Given the description of an element on the screen output the (x, y) to click on. 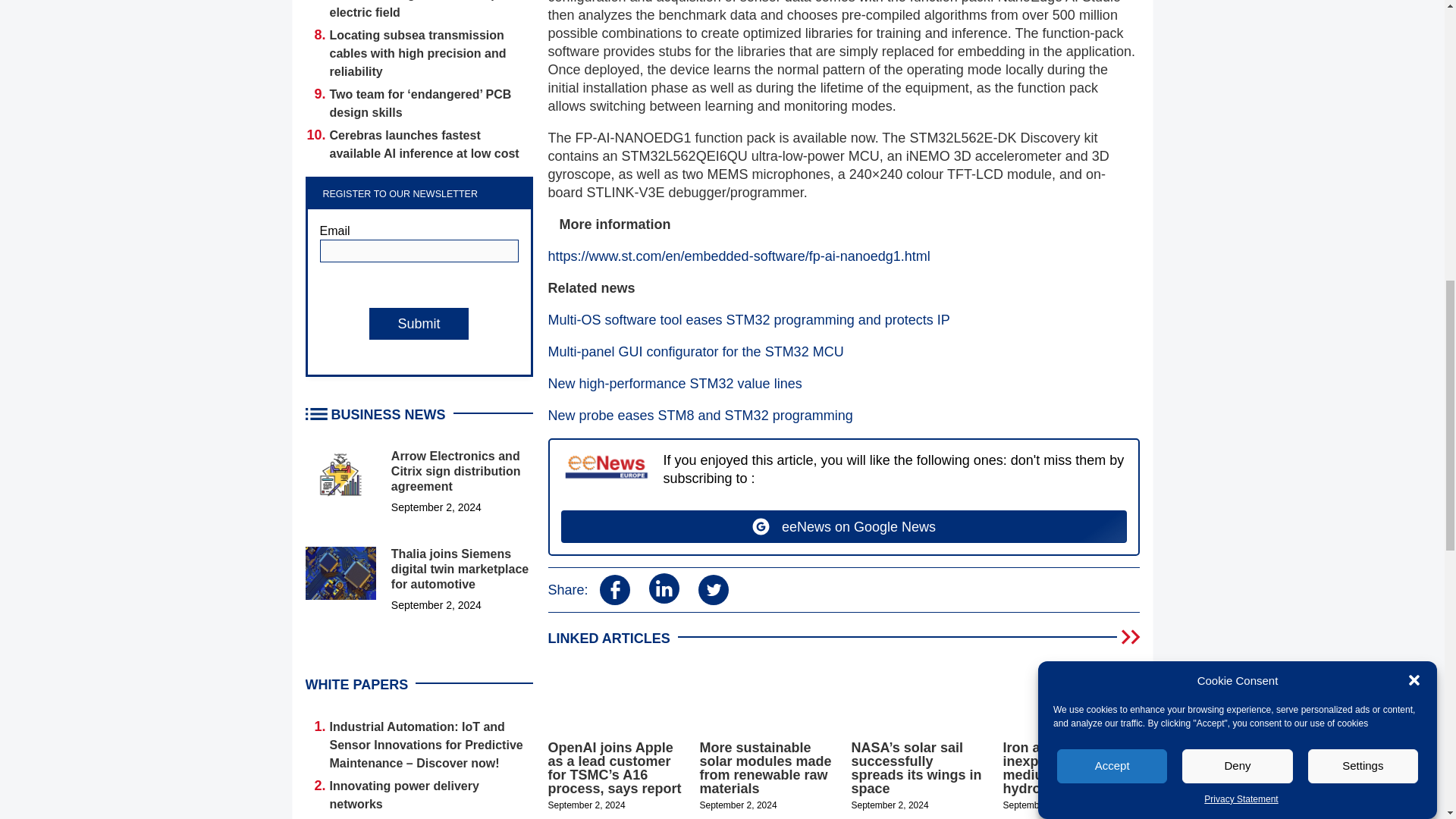
Settings (1362, 97)
Deny (1237, 132)
Privacy Statement (1241, 10)
Accept (1112, 160)
Submit (418, 323)
